Given the description of an element on the screen output the (x, y) to click on. 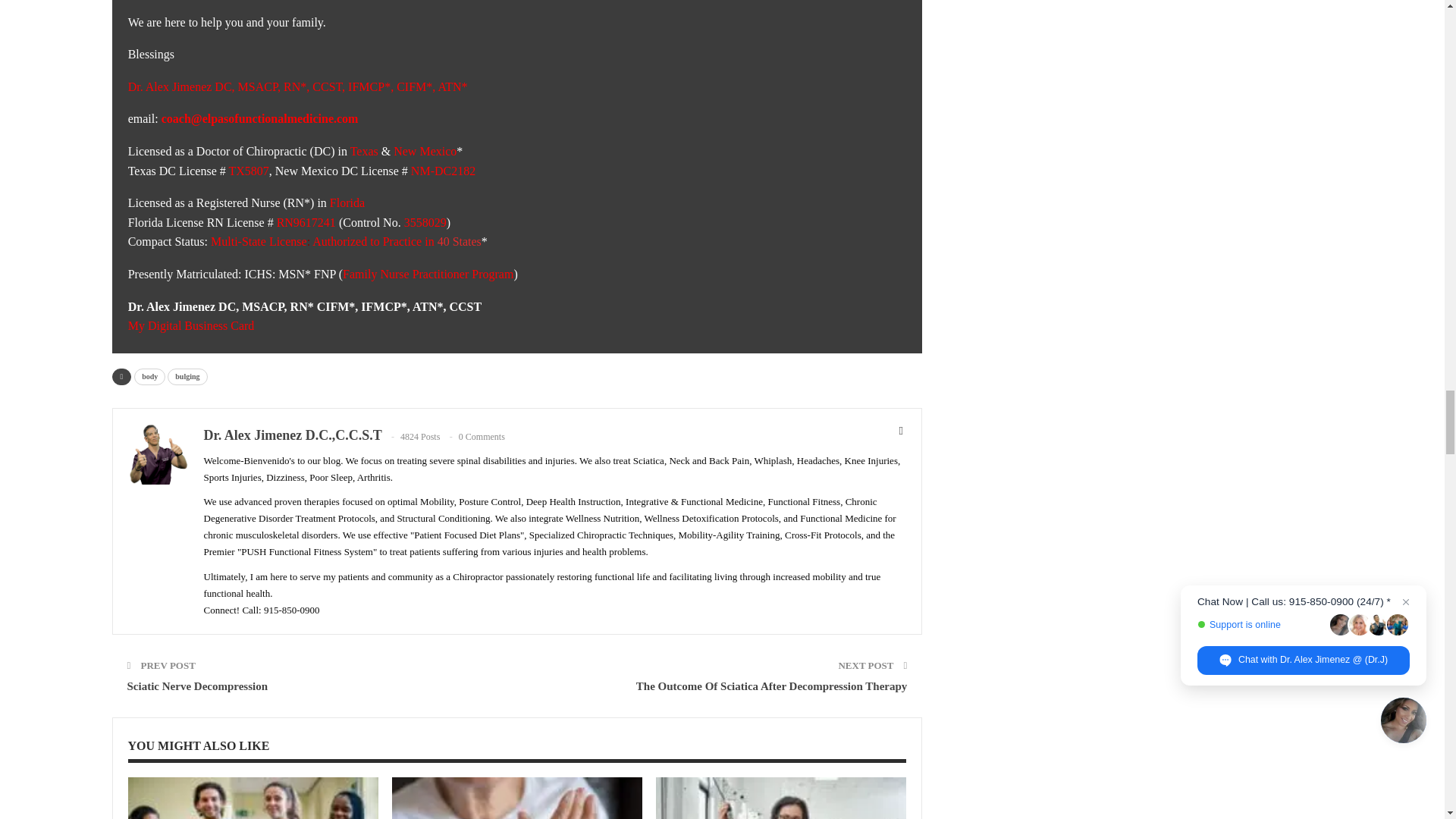
Improve Neck Mobility and Reduce Pain with a Traction Device (780, 798)
